Given the description of an element on the screen output the (x, y) to click on. 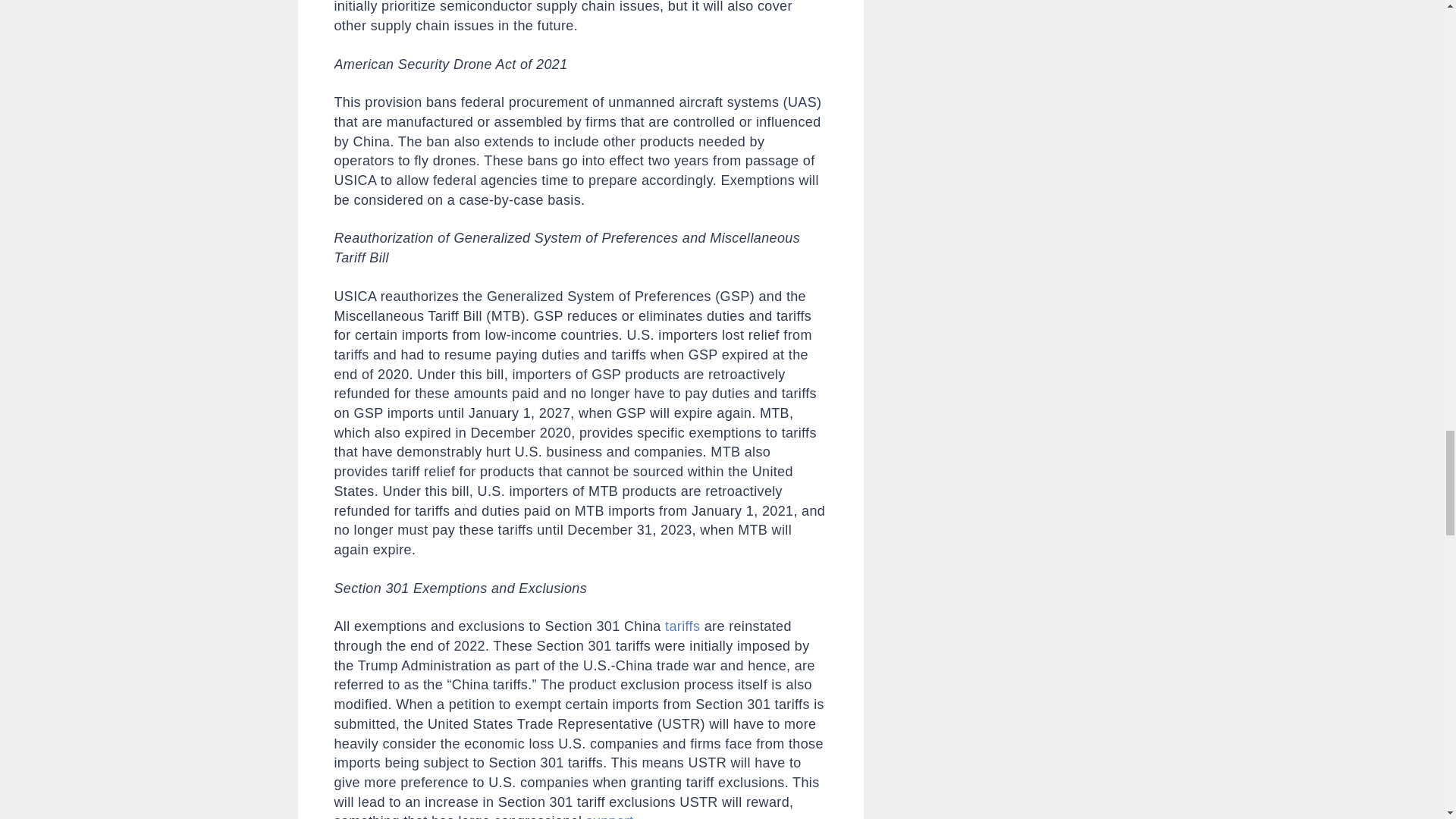
tariffs (682, 626)
support (609, 816)
